Given the description of an element on the screen output the (x, y) to click on. 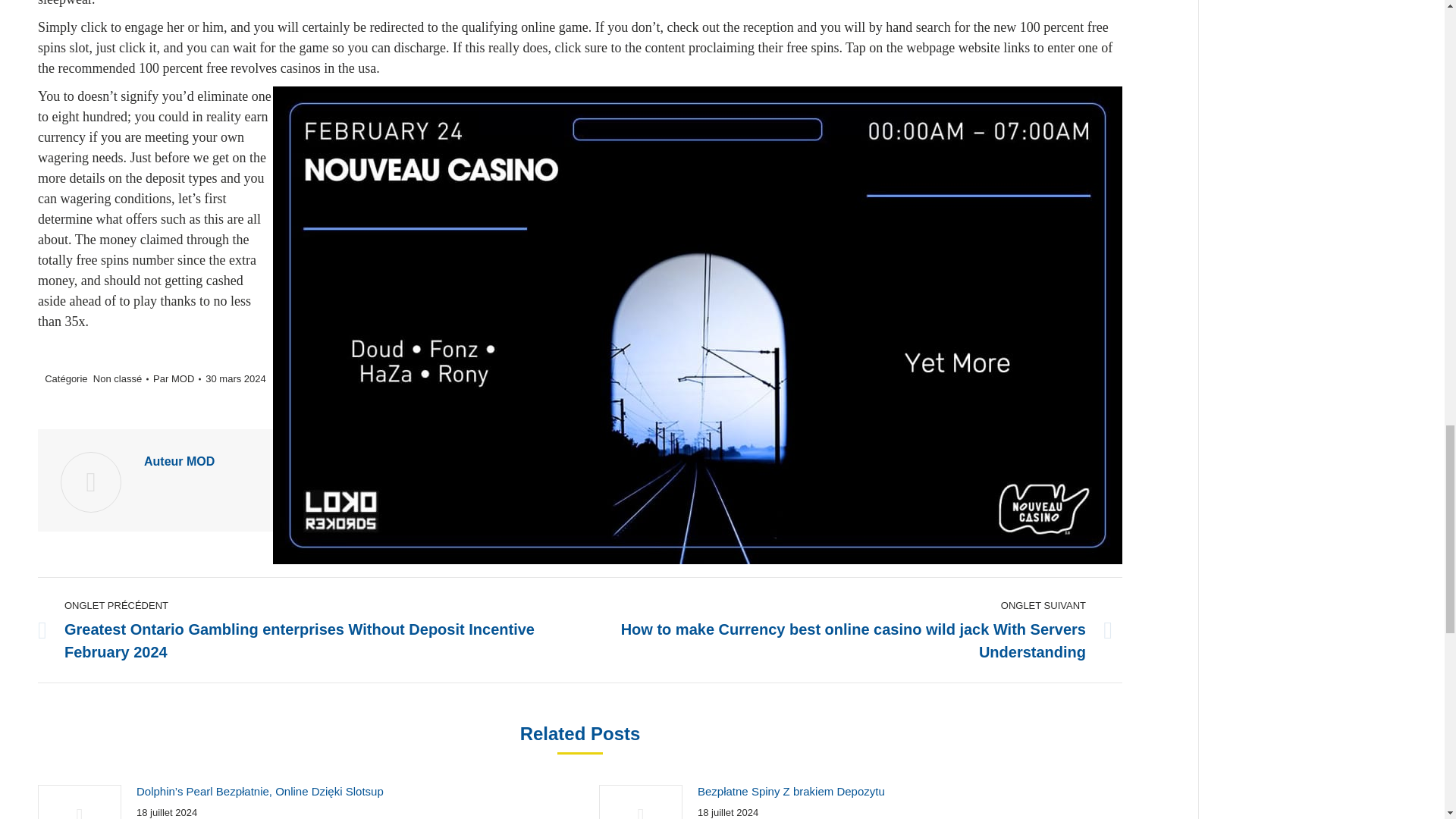
11 h 52 min (235, 378)
30 mars 2024 (235, 378)
Voir tous les articles par MOD (176, 378)
Par MOD (176, 378)
